Given the description of an element on the screen output the (x, y) to click on. 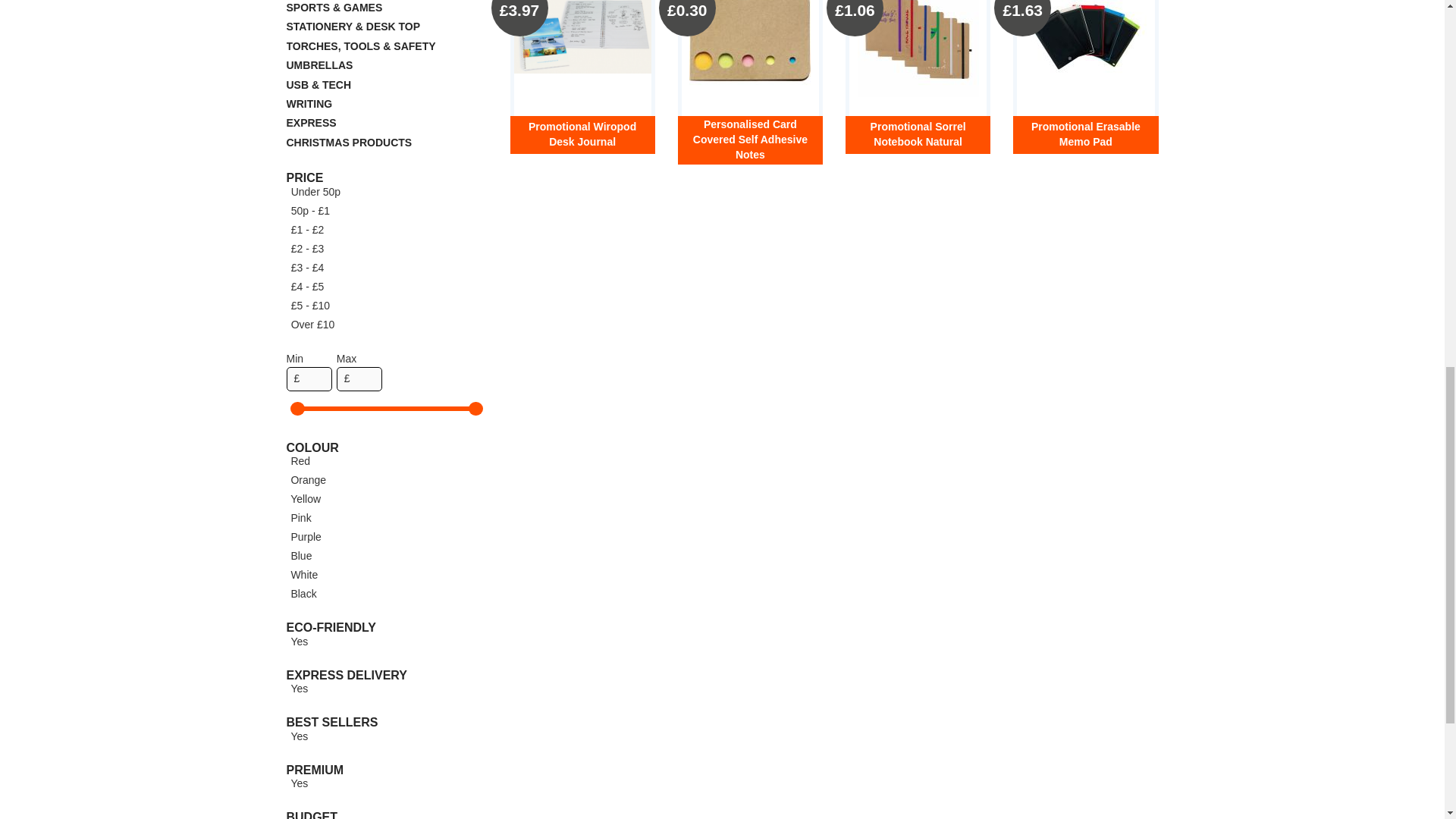
Promotional Wiropod Desk Journal (581, 36)
Promotional Erasable Memo Pad (1086, 48)
Promotional Sorrel Notebook Natural (917, 48)
Personalised Card Covered Self Adhesive Notes (749, 48)
